Given the description of an element on the screen output the (x, y) to click on. 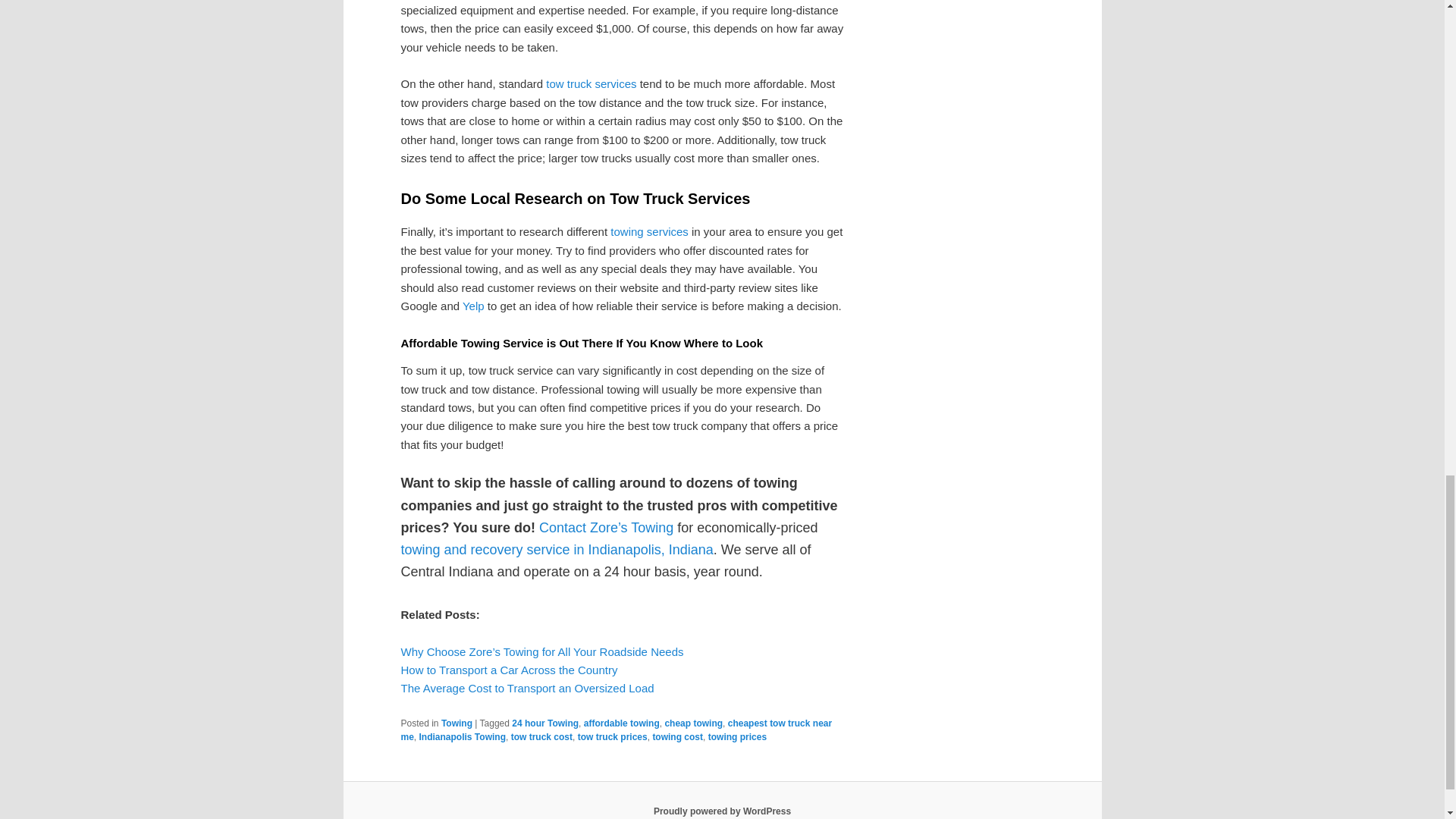
Towing (456, 723)
tow truck prices (612, 737)
towing cost (677, 737)
tow truck cost (541, 737)
tow truck services (591, 83)
24 hour Towing (545, 723)
cheapest tow truck near me (615, 730)
Yelp (473, 305)
affordable towing (621, 723)
How to Transport a Car Across the Country (508, 669)
